Given the description of an element on the screen output the (x, y) to click on. 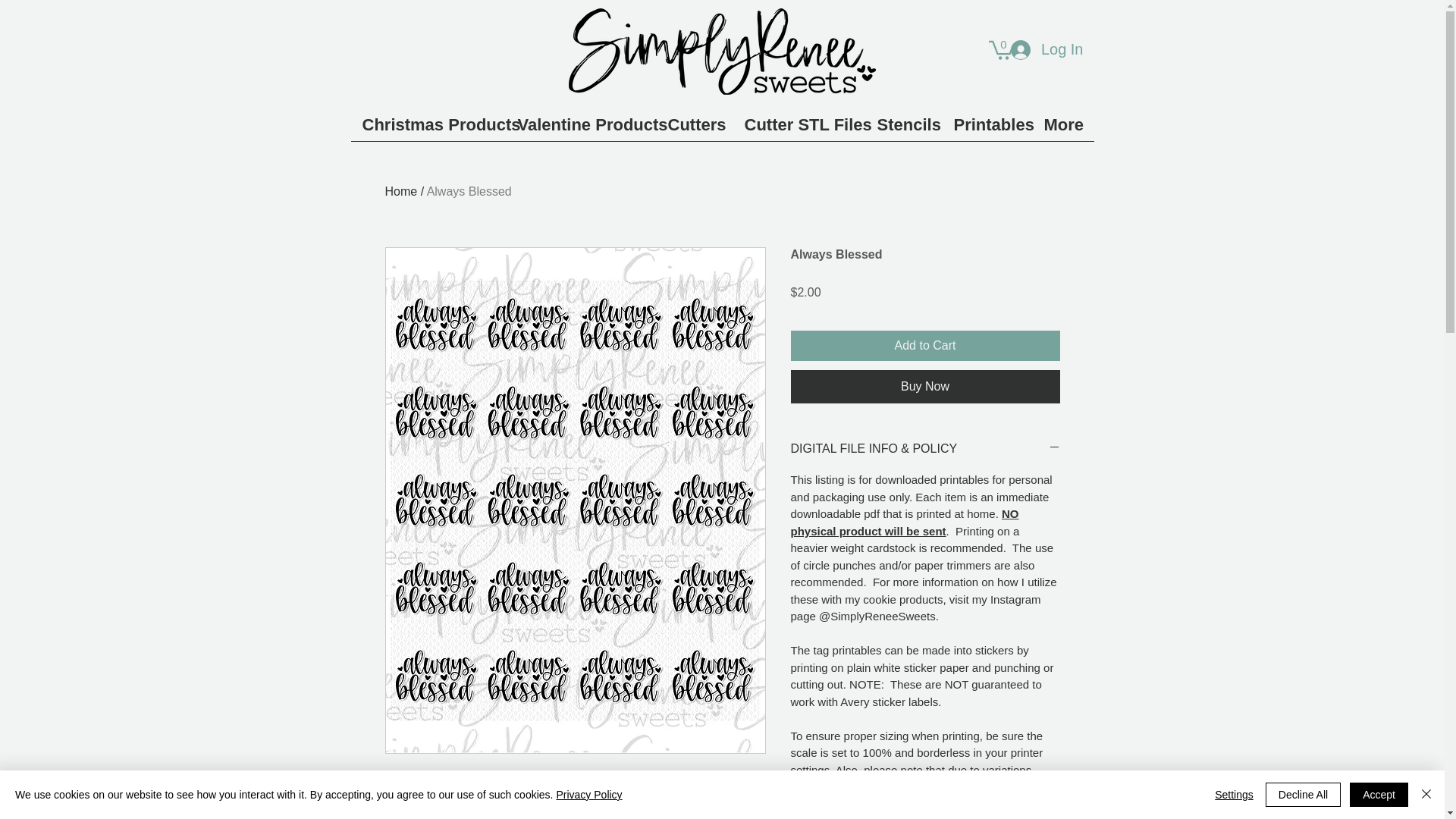
Printables (987, 129)
Main Logo BLACK.jpg (722, 51)
Cutter STL Files (798, 128)
Christmas Products (427, 128)
Printables (987, 128)
Christmas Products (427, 129)
0 (1000, 48)
Valentine Products (581, 129)
Log In (1047, 49)
Stencils (904, 128)
